Given the description of an element on the screen output the (x, y) to click on. 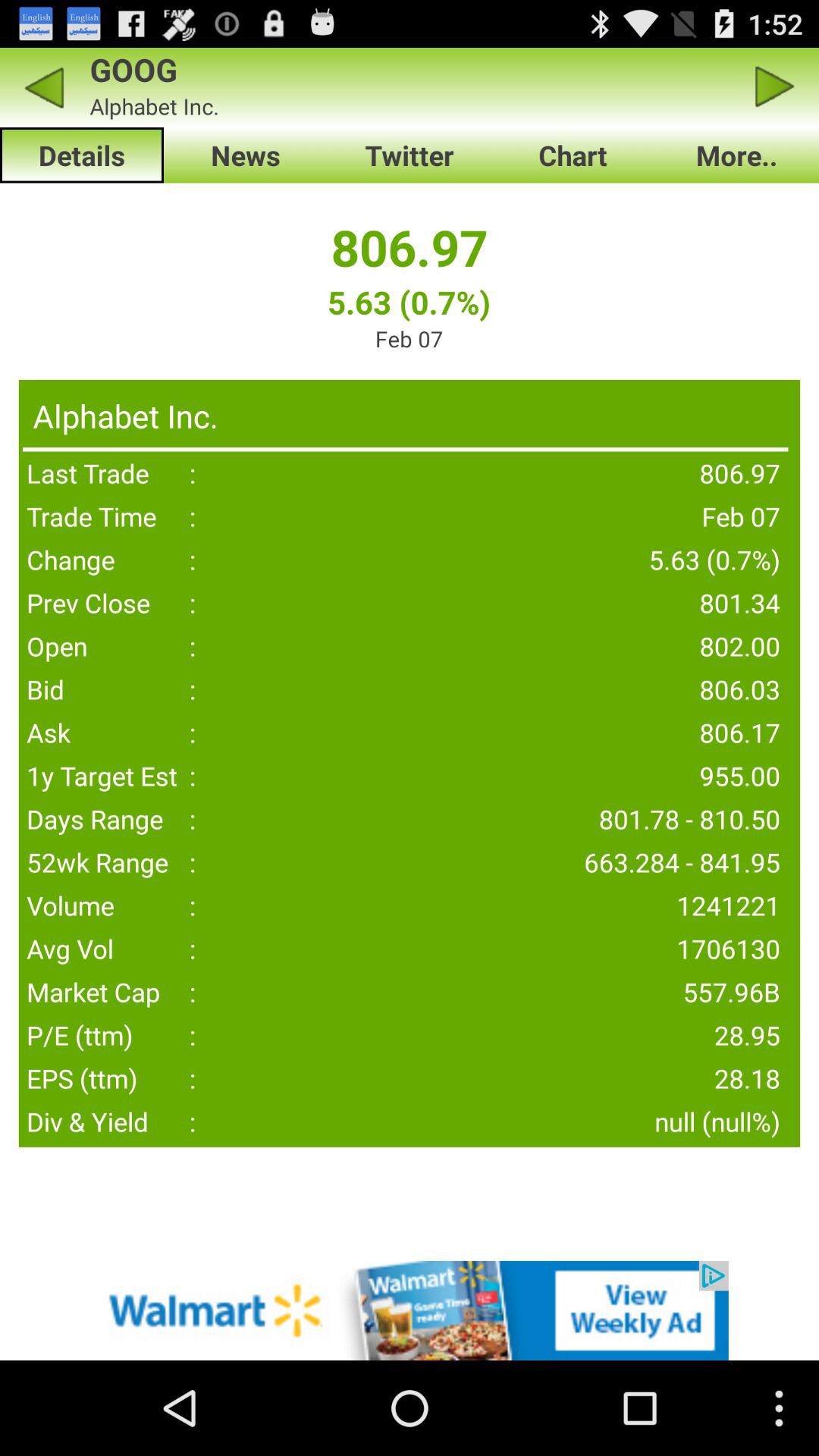
back the pages (43, 87)
